Given the description of an element on the screen output the (x, y) to click on. 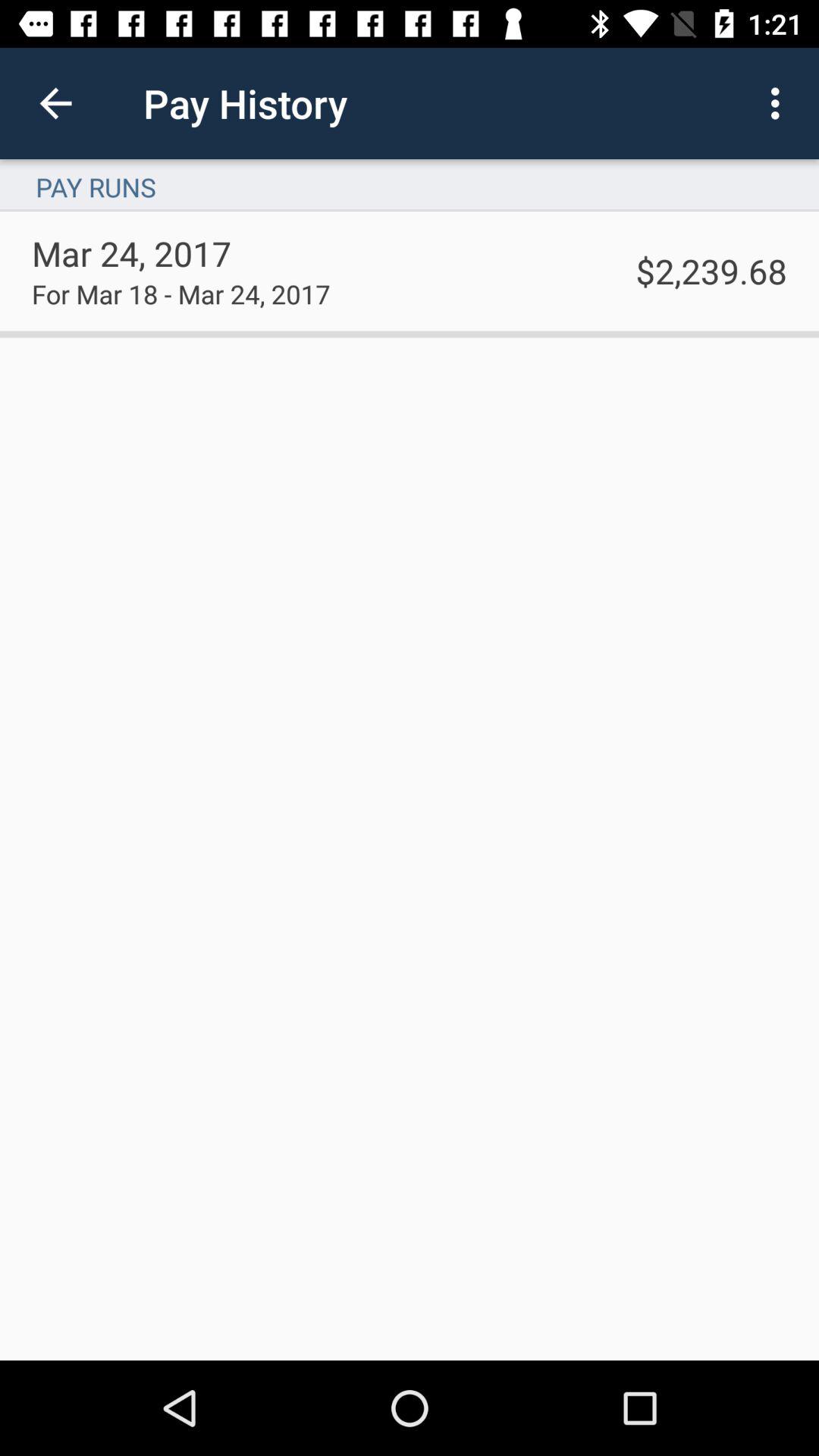
click $2,239.68 icon (711, 270)
